Given the description of an element on the screen output the (x, y) to click on. 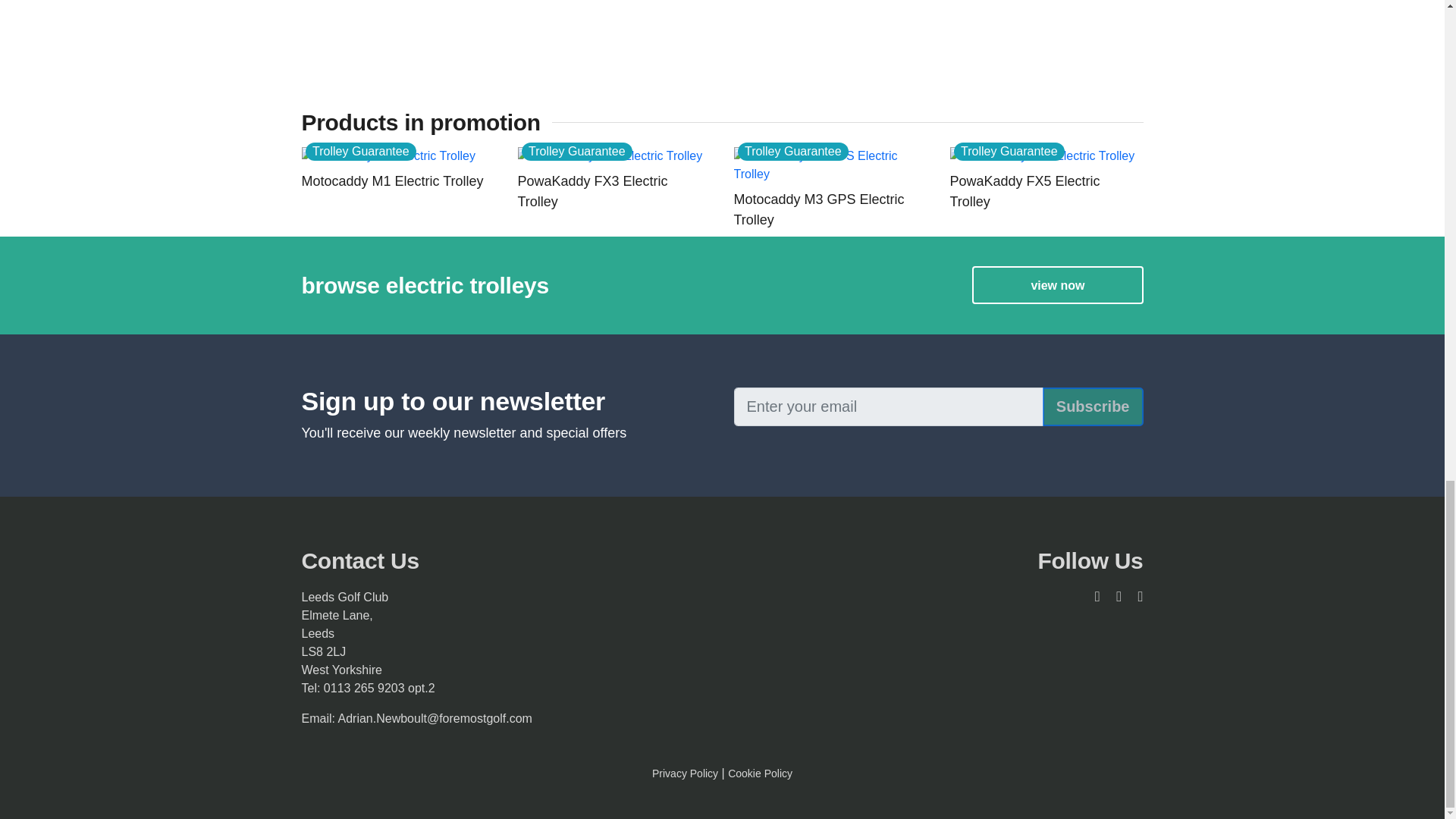
view now (1057, 284)
Motocaddy M3 GPS Electric Trolley (830, 209)
Cookie Policy (760, 773)
PowaKaddy FX3 Electric Trolley (613, 191)
PowaKaddy FX5 Electric Trolley (1045, 191)
Privacy Policy (684, 773)
Facebook (1113, 596)
Instagram (1133, 596)
Motocaddy M1 Electric Trolley (398, 181)
Subscribe (1092, 406)
